Given the description of an element on the screen output the (x, y) to click on. 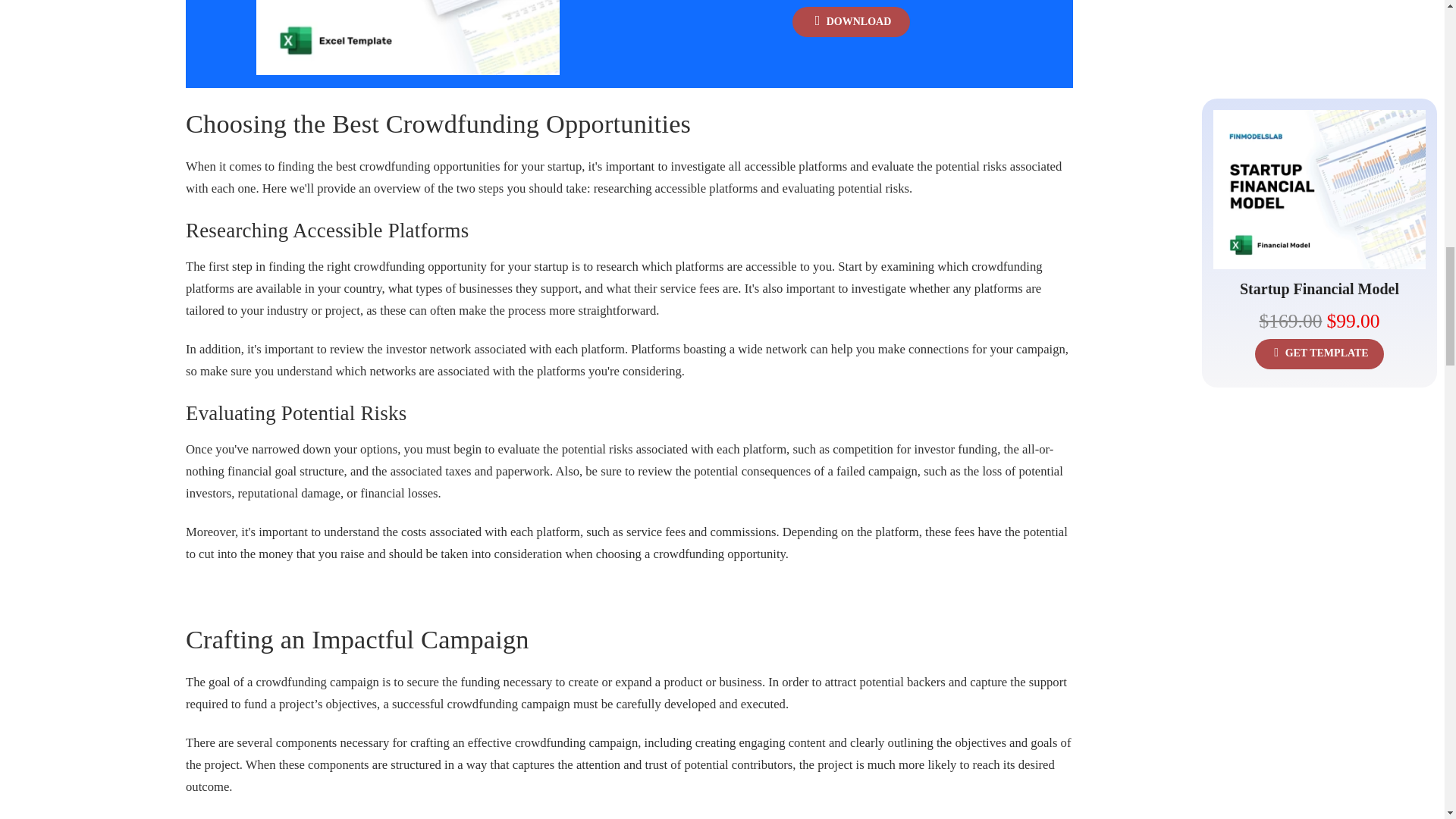
DOWNLOAD (851, 21)
